Given the description of an element on the screen output the (x, y) to click on. 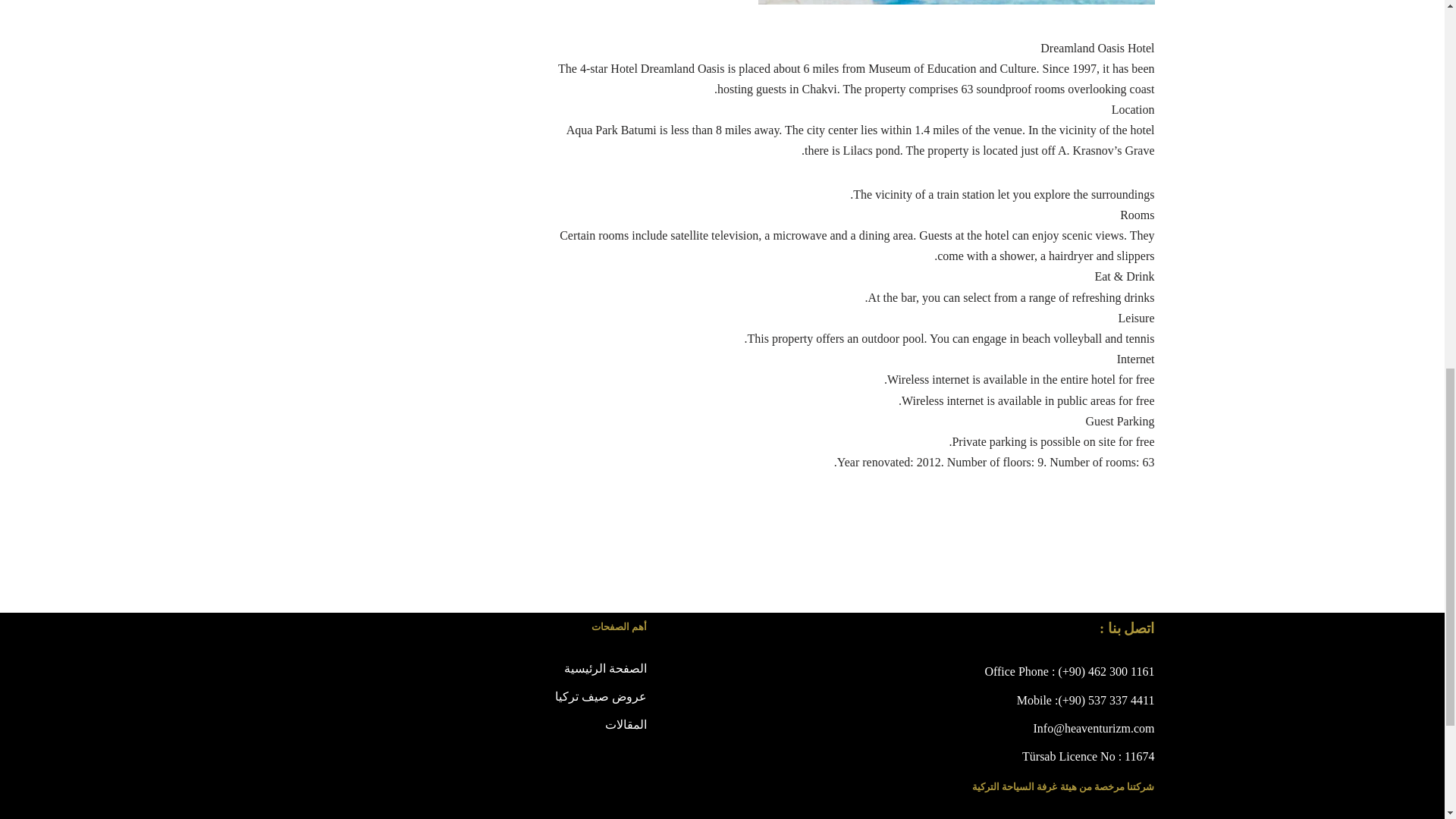
Hotel-Dreamland-Oasis-photos-Exterior-Hotel-Dreamland-Oasis (956, 2)
